Given the description of an element on the screen output the (x, y) to click on. 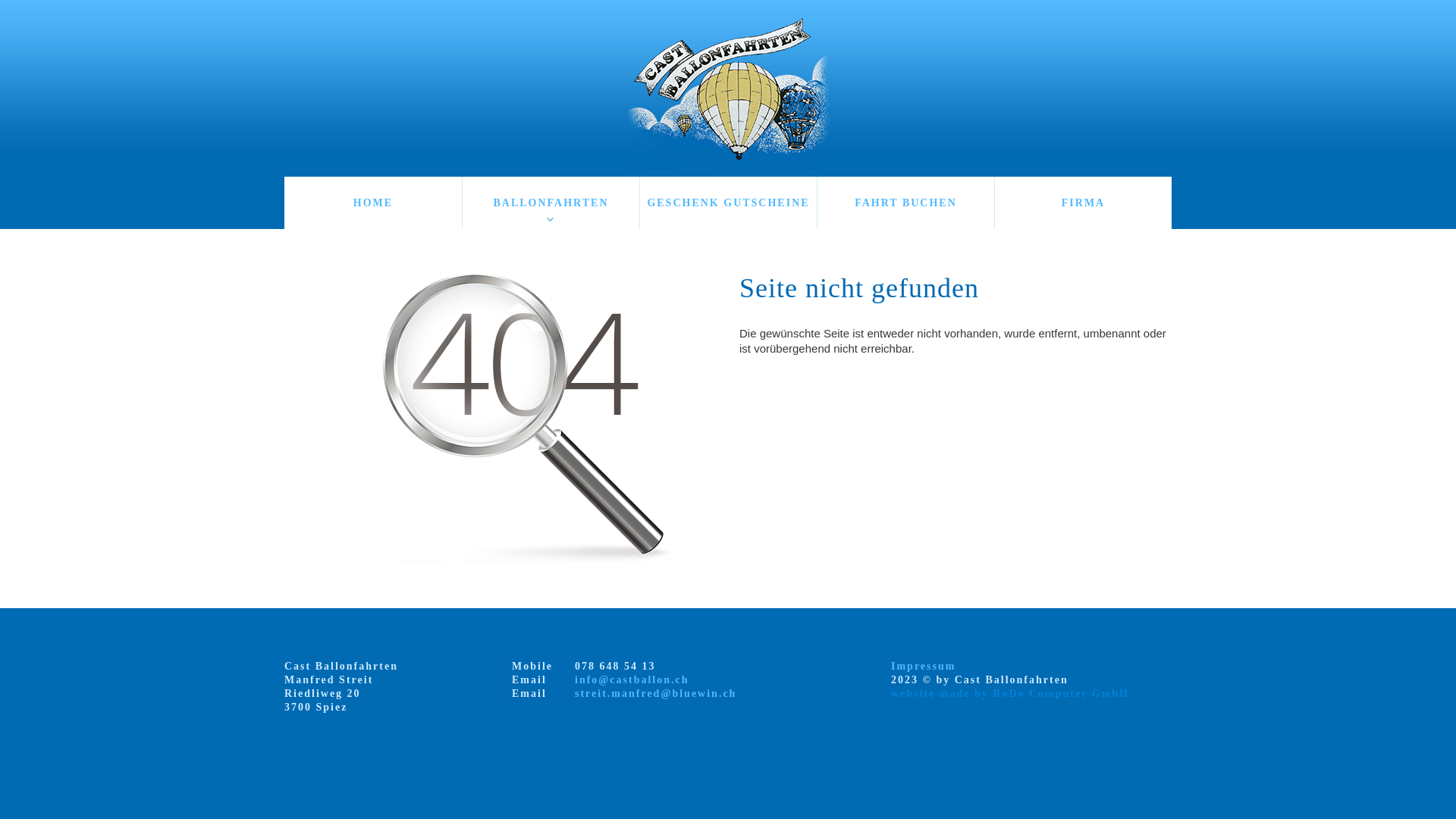
FIRMA Element type: text (1082, 202)
GESCHENK GUTSCHEINE Element type: text (728, 202)
BALLONFAHRTEN Element type: text (550, 202)
FAHRT BUCHEN Element type: text (905, 202)
Impressum Element type: text (923, 665)
streit.manfred@bluewin.ch Element type: text (655, 693)
Ballonswiss Cast-Ballonfahrten Element type: hover (727, 93)
website made by RoDo Computer GmbH Element type: text (1010, 693)
info@castballon.ch Element type: text (631, 679)
078 648 54 13 Element type: text (614, 665)
HOME Element type: text (372, 202)
